Given the description of an element on the screen output the (x, y) to click on. 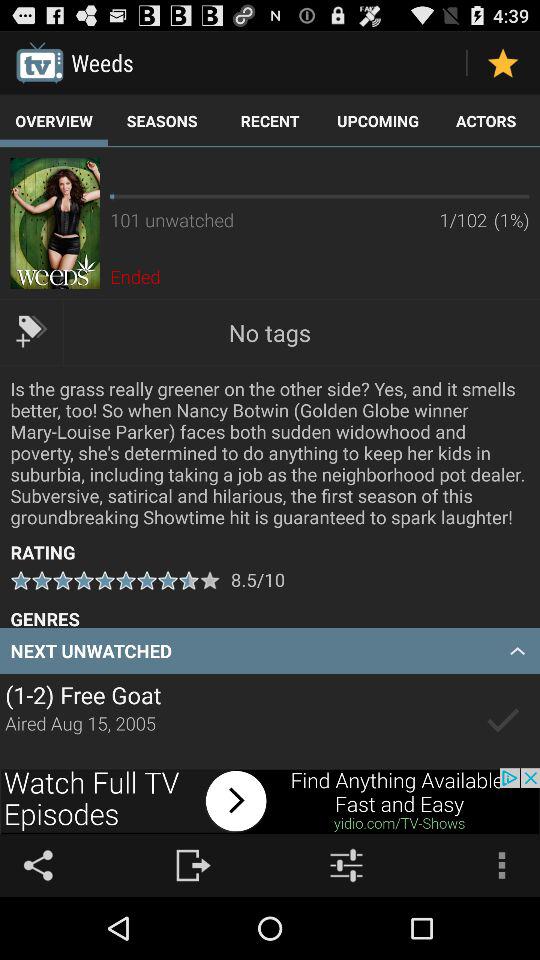
go to the advertisement page (270, 801)
